Given the description of an element on the screen output the (x, y) to click on. 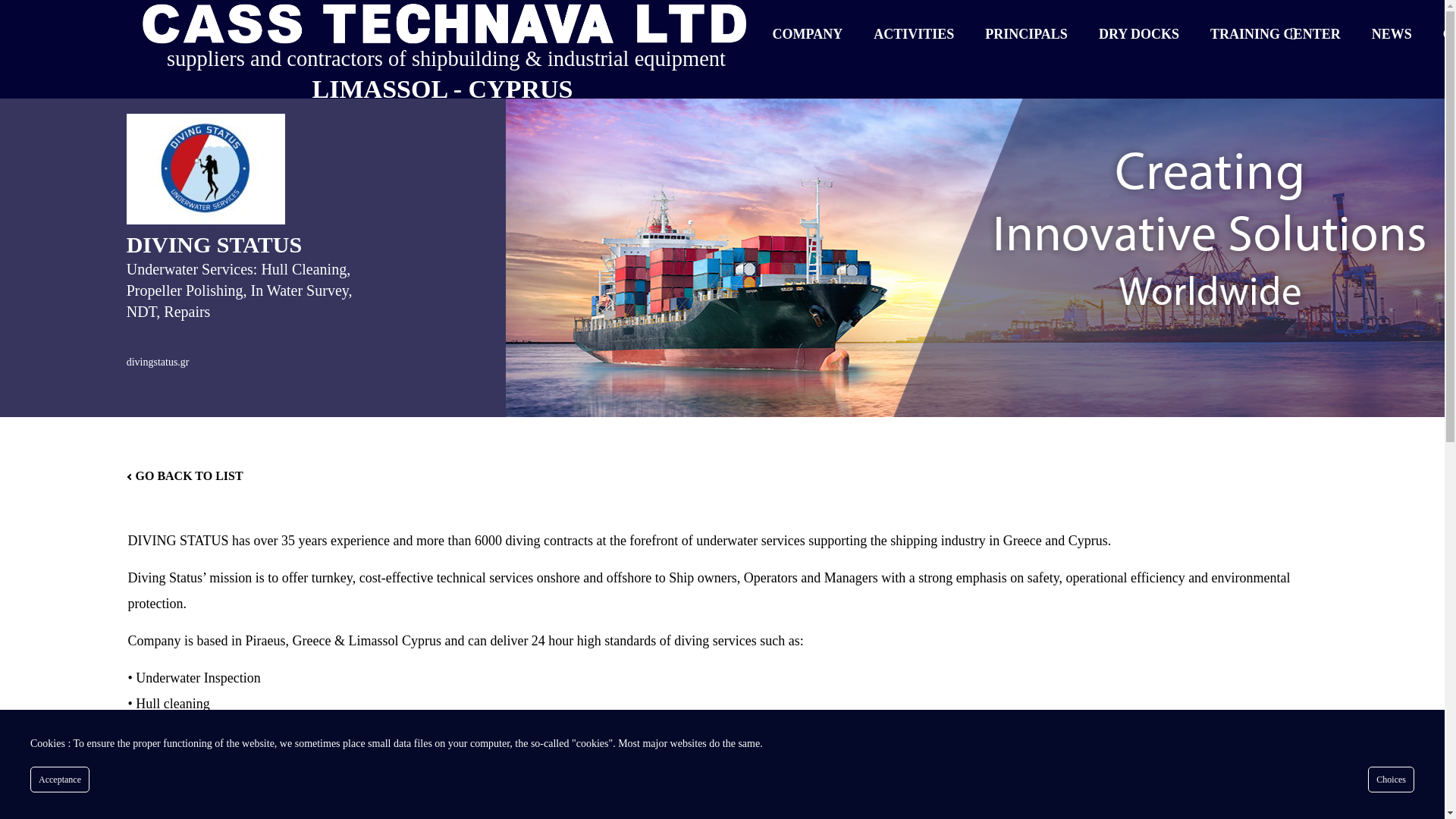
DRY DOCKS (1139, 33)
COMPANY (808, 33)
GO BACK TO LIST (185, 475)
PRINCIPALS (1026, 33)
ACTIVITIES (914, 33)
NEWS (1392, 33)
Cass Technava Ltd (442, 22)
divingstatus.gr (157, 361)
TRAINING CENTER (1275, 33)
